Given the description of an element on the screen output the (x, y) to click on. 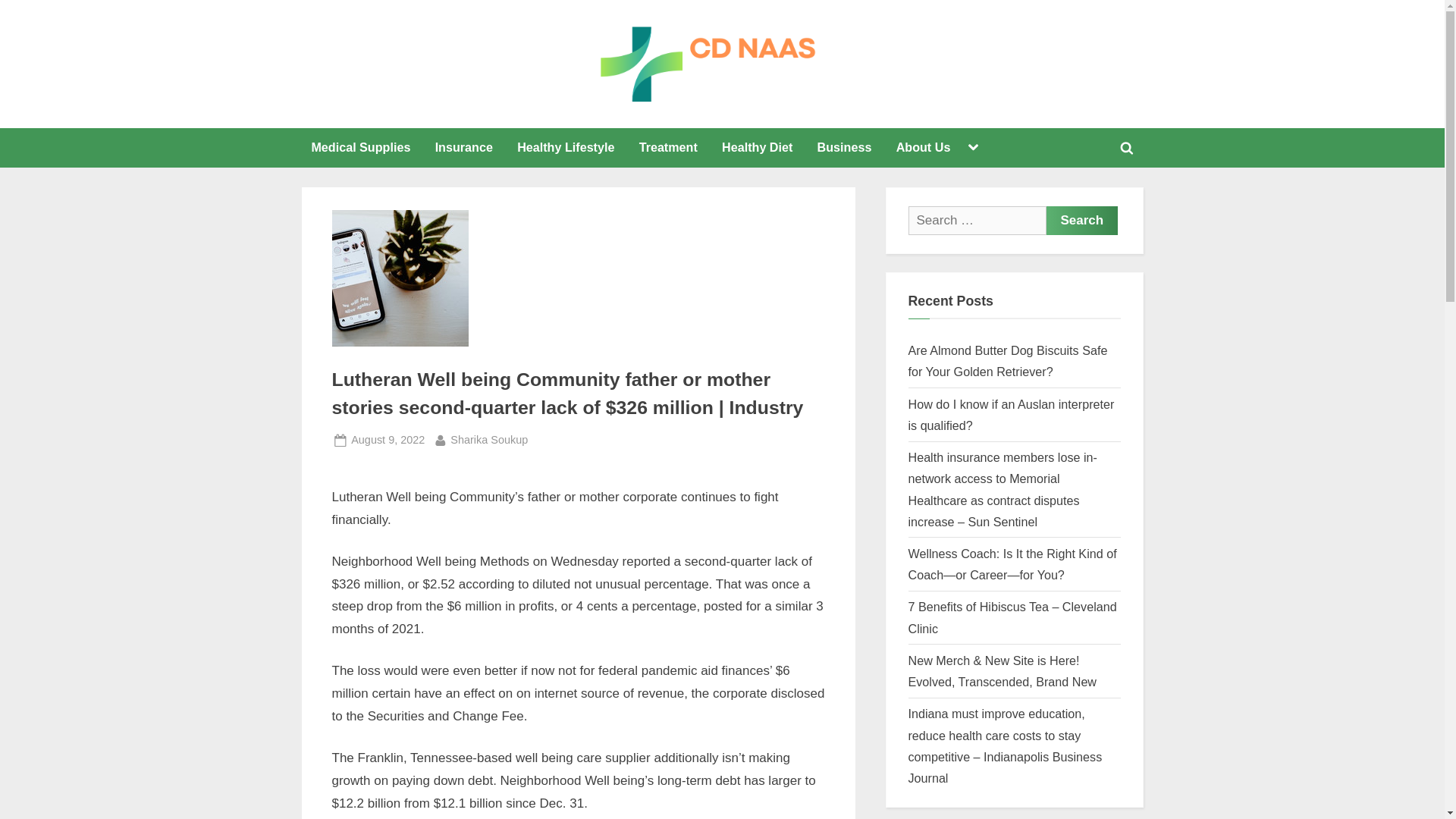
Insurance (463, 147)
Healthy Diet (756, 147)
About Us (923, 147)
Healthy Lifestyle (565, 147)
Search (1082, 220)
Search (488, 439)
Search (1082, 220)
cdnaas (1082, 220)
Business (755, 117)
